Given the description of an element on the screen output the (x, y) to click on. 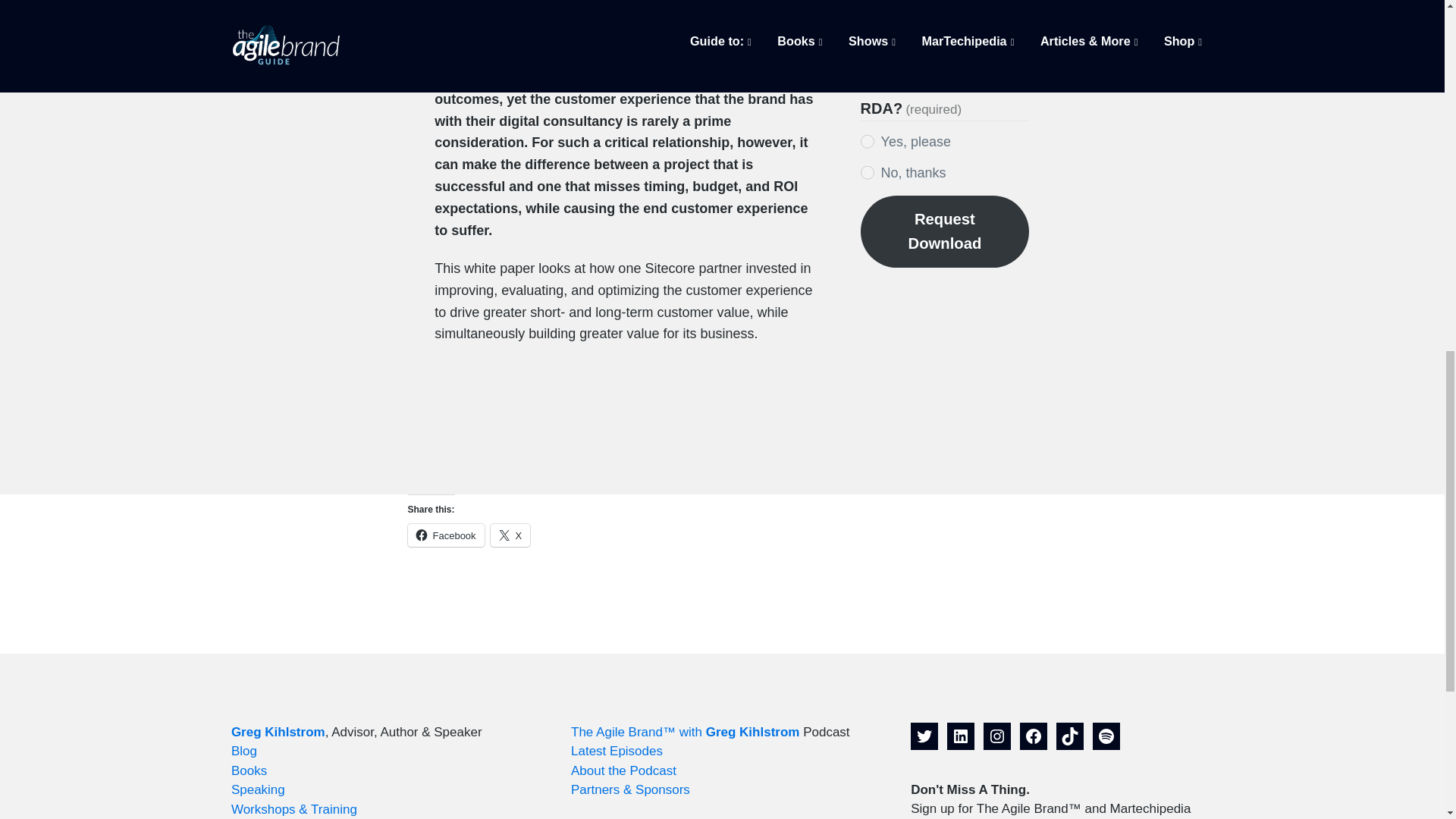
No, thanks (867, 172)
Click to share on X (510, 535)
Click to share on Facebook (445, 535)
Yes, please (867, 141)
